Given the description of an element on the screen output the (x, y) to click on. 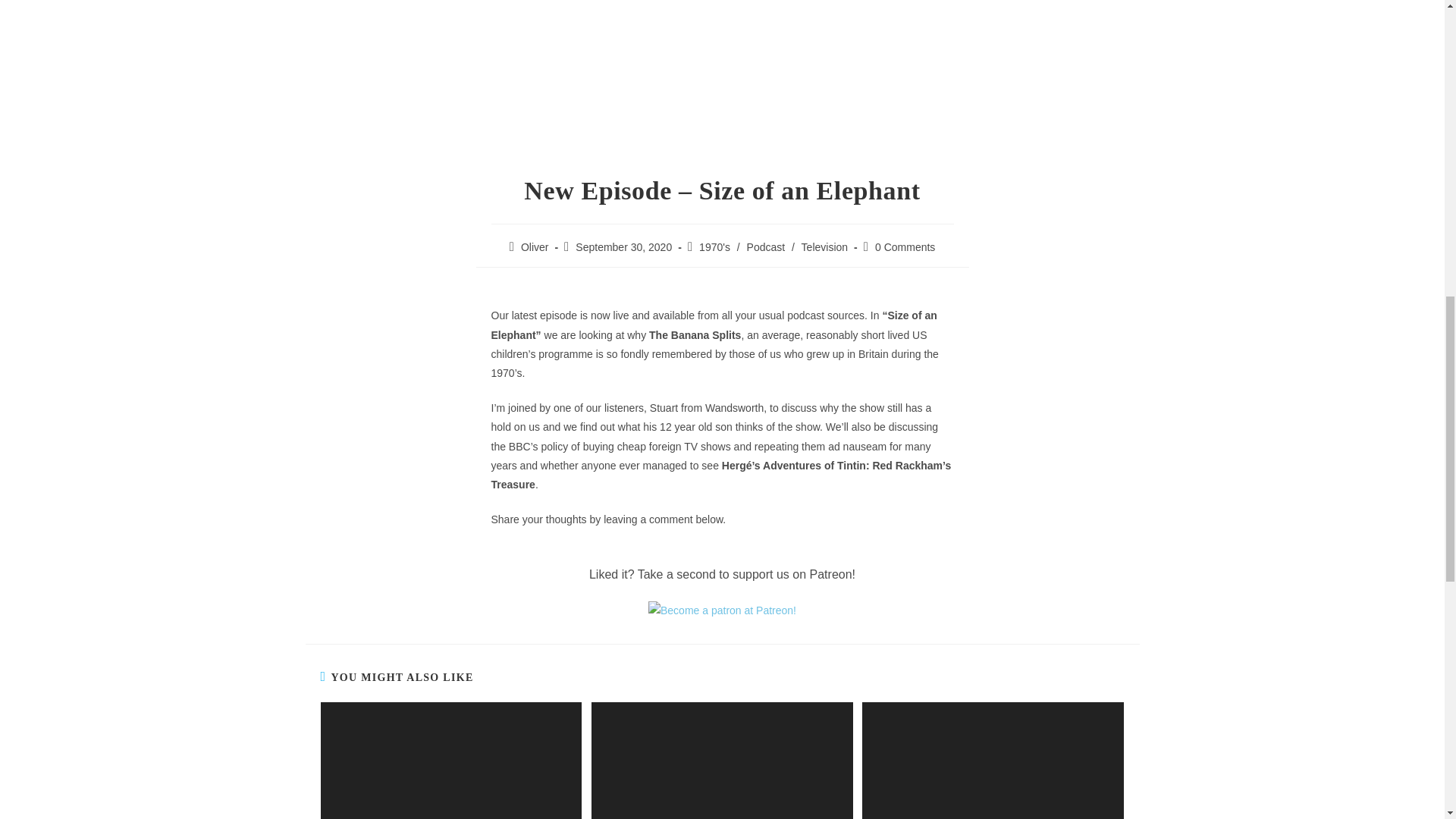
Posts by Oliver (534, 246)
1970's (714, 246)
Podcast (766, 246)
Television (824, 246)
Oliver (534, 246)
0 Comments (904, 246)
